Given the description of an element on the screen output the (x, y) to click on. 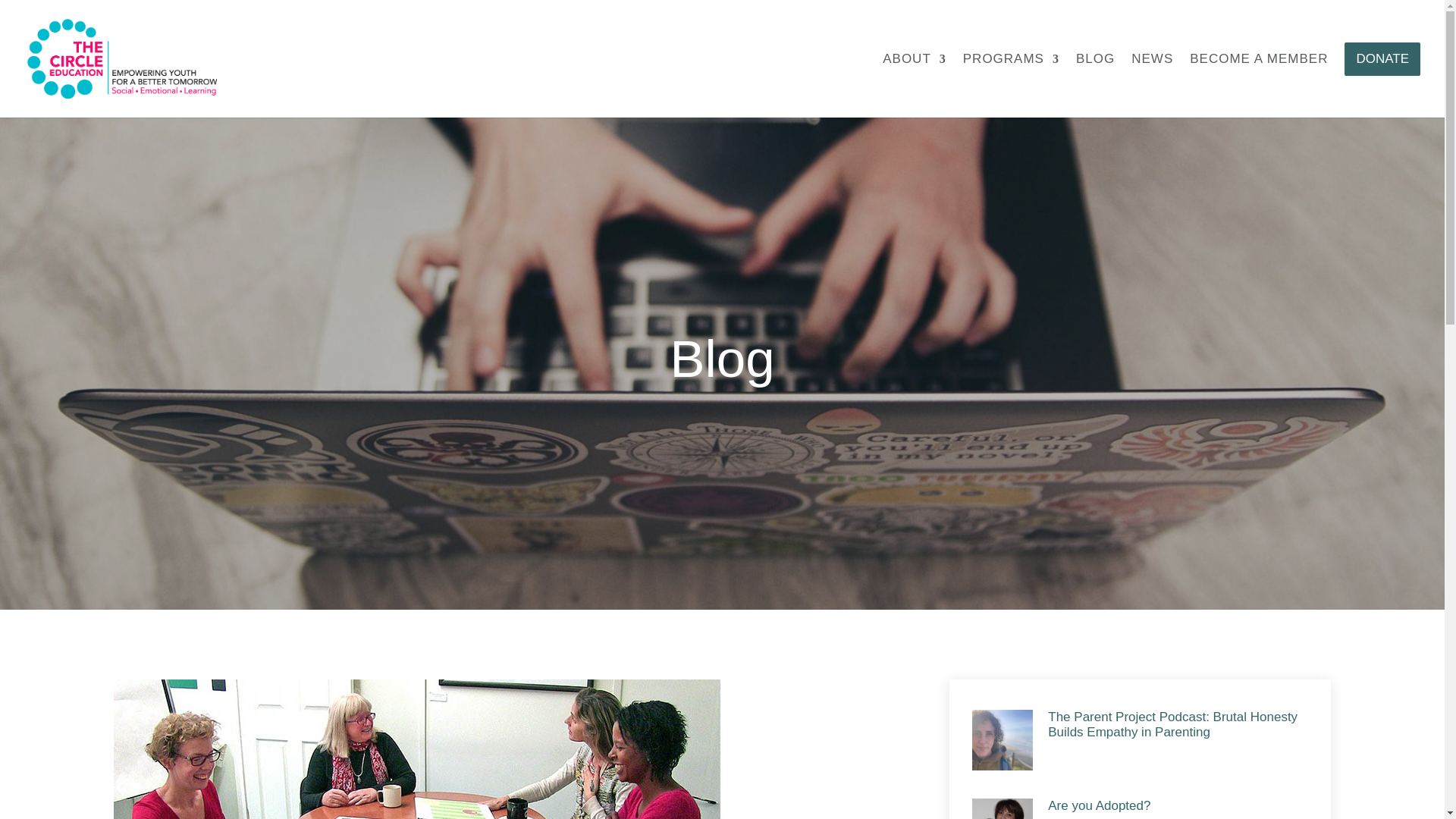
BLOG (1095, 85)
DONATE (1382, 79)
PROGRAMS (1010, 85)
ABOUT (914, 85)
BECOME A MEMBER (1258, 85)
NEWS (1152, 85)
